Given the description of an element on the screen output the (x, y) to click on. 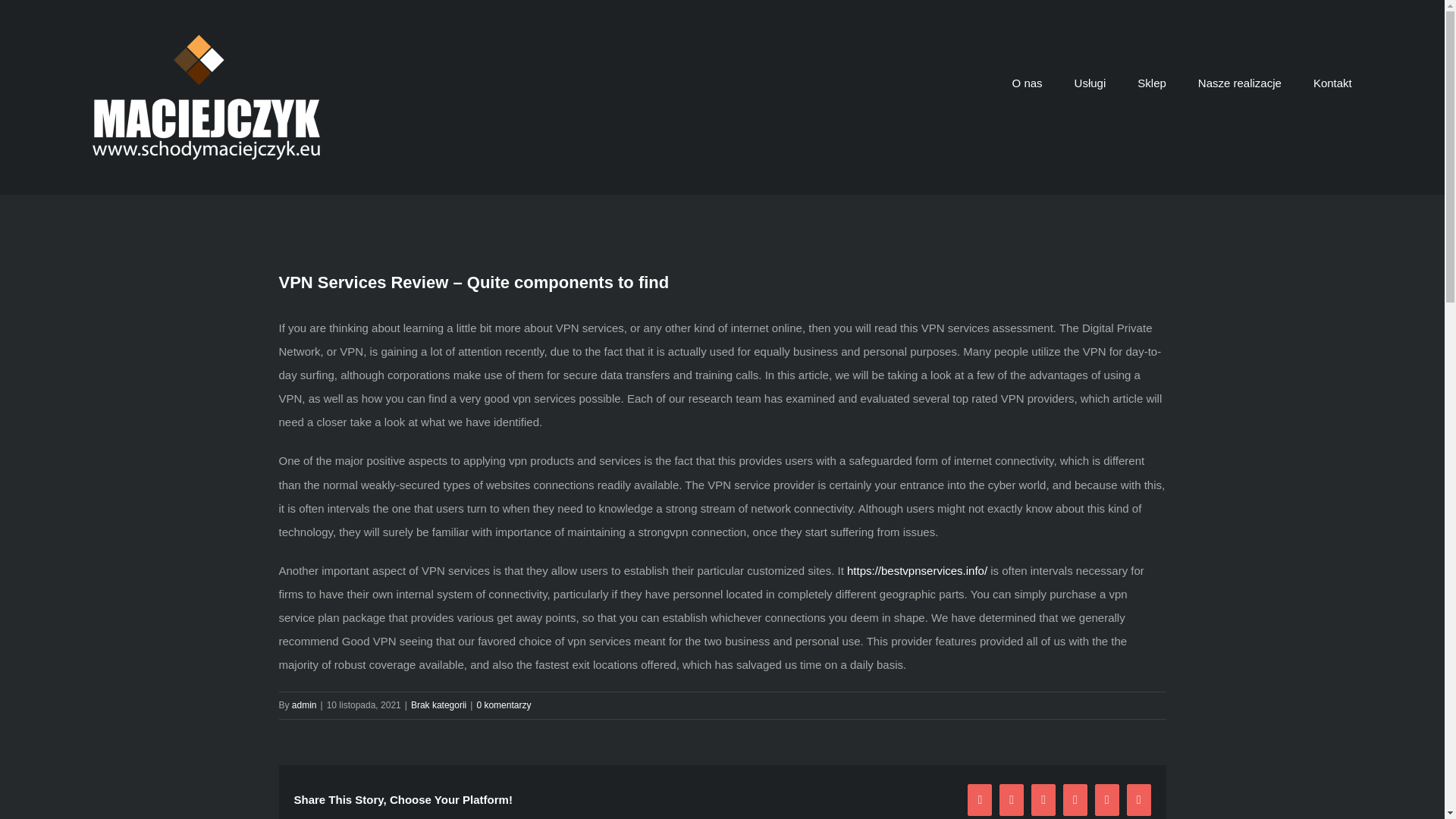
Brak kategorii (437, 705)
Wpisy od admin (304, 705)
admin (304, 705)
0 komentarzy (503, 705)
